Given the description of an element on the screen output the (x, y) to click on. 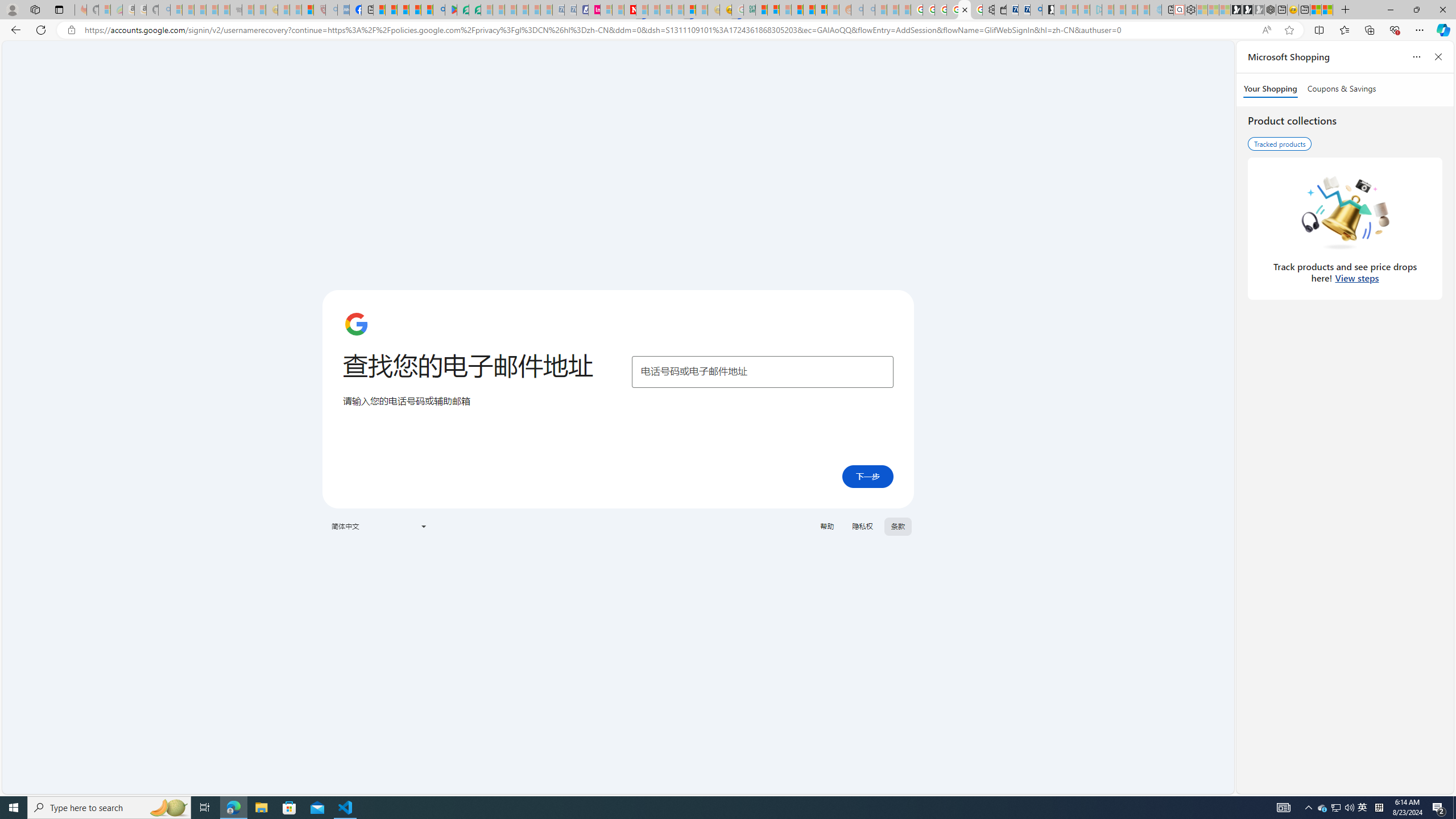
Kinda Frugal - MSN (808, 9)
Bing Real Estate - Home sales and rental listings (1035, 9)
Cheap Car Rentals - Save70.com - Sleeping (558, 9)
Cheap Car Rentals - Save70.com (1024, 9)
